Given the description of an element on the screen output the (x, y) to click on. 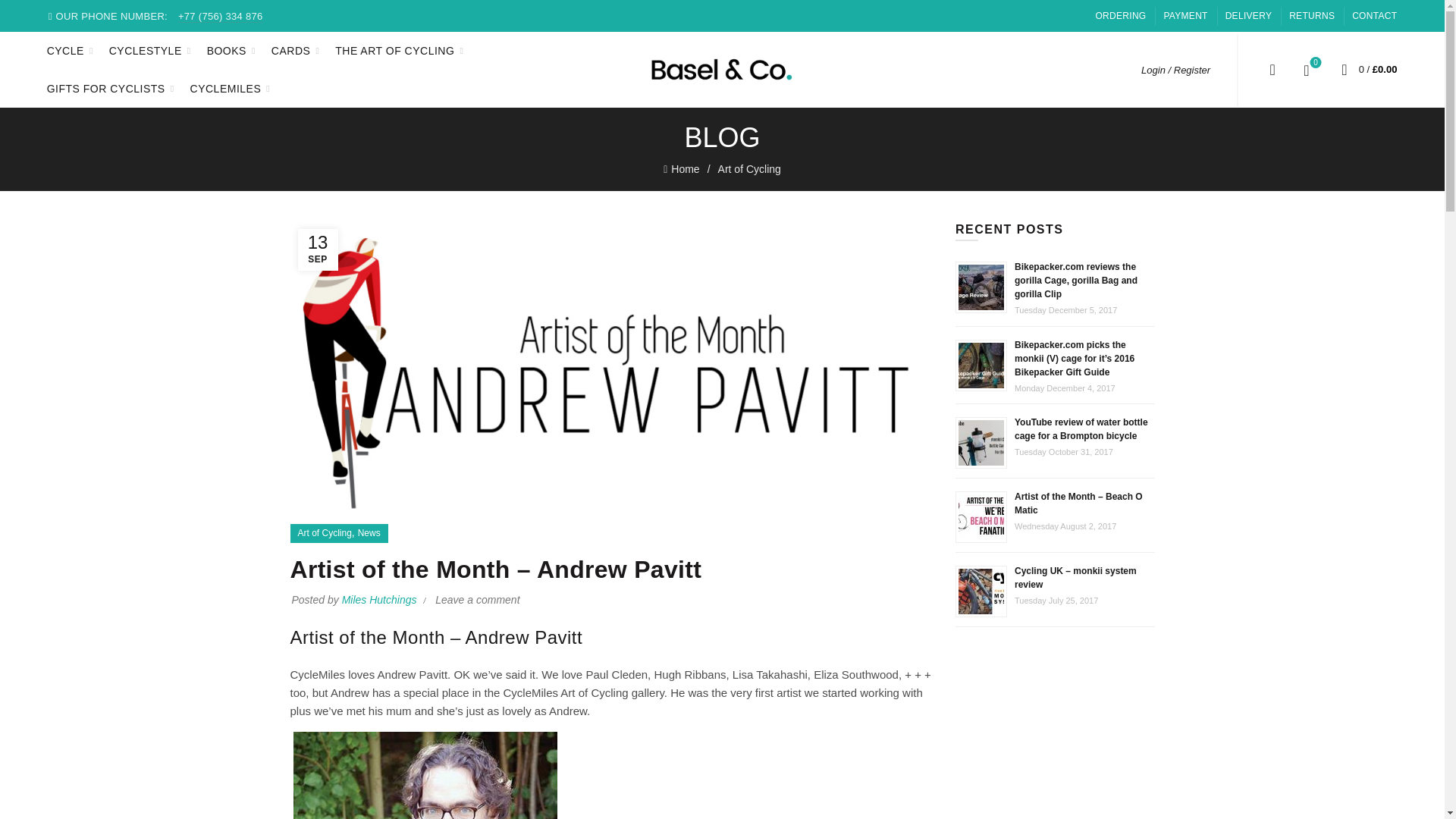
PAYMENT (1185, 15)
Paul Cleden (616, 674)
Hugh Ribbans (689, 674)
CYCLESTYLE (145, 50)
ORDERING (1119, 15)
CONTACT (1374, 15)
DELIVERY (1248, 15)
RETURNS (1311, 15)
Eliza Southwood (855, 674)
